Given the description of an element on the screen output the (x, y) to click on. 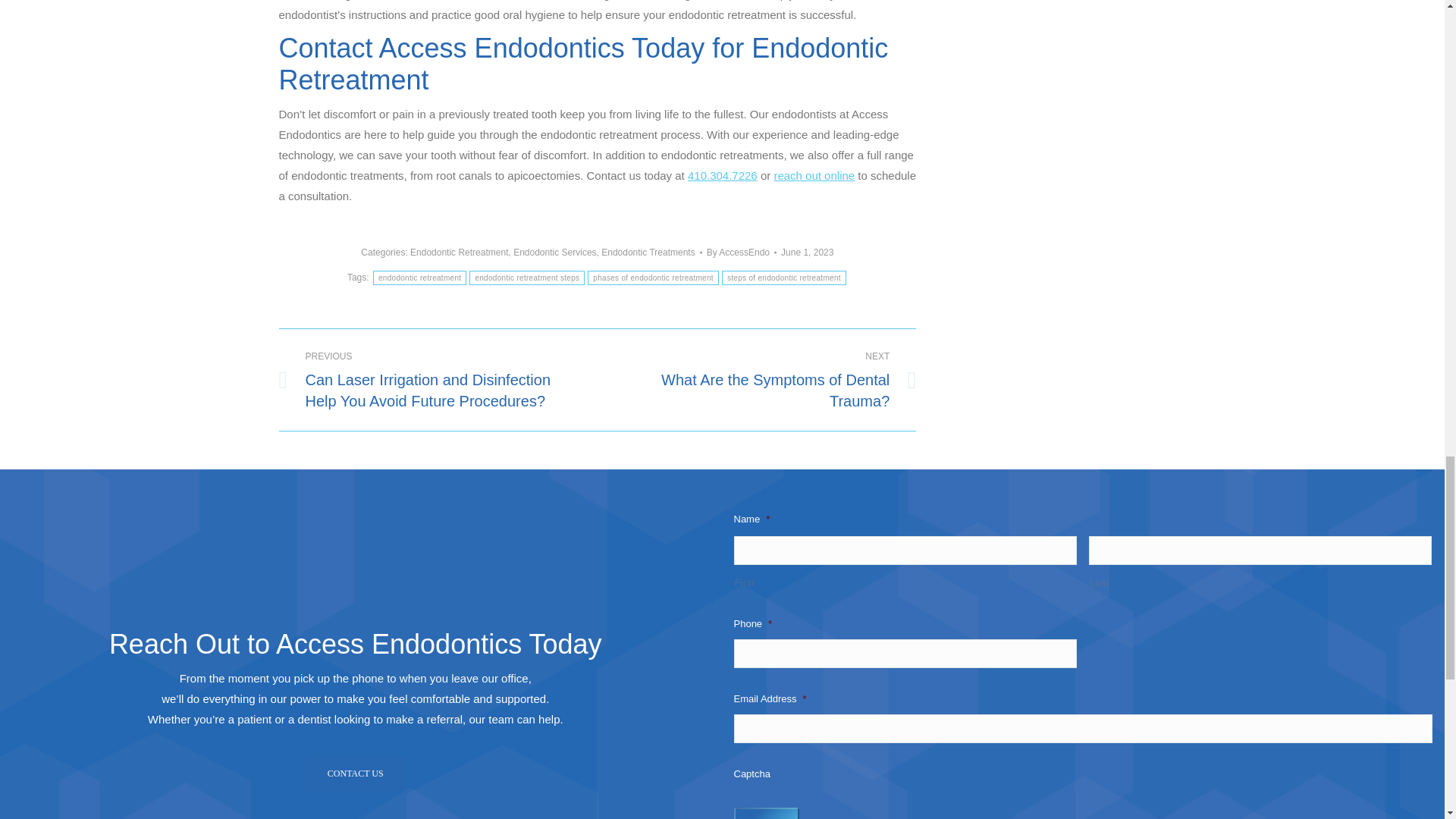
9:00 am (806, 252)
View all posts by AccessEndo (741, 252)
Contact Us (355, 773)
Submit (766, 813)
